Given the description of an element on the screen output the (x, y) to click on. 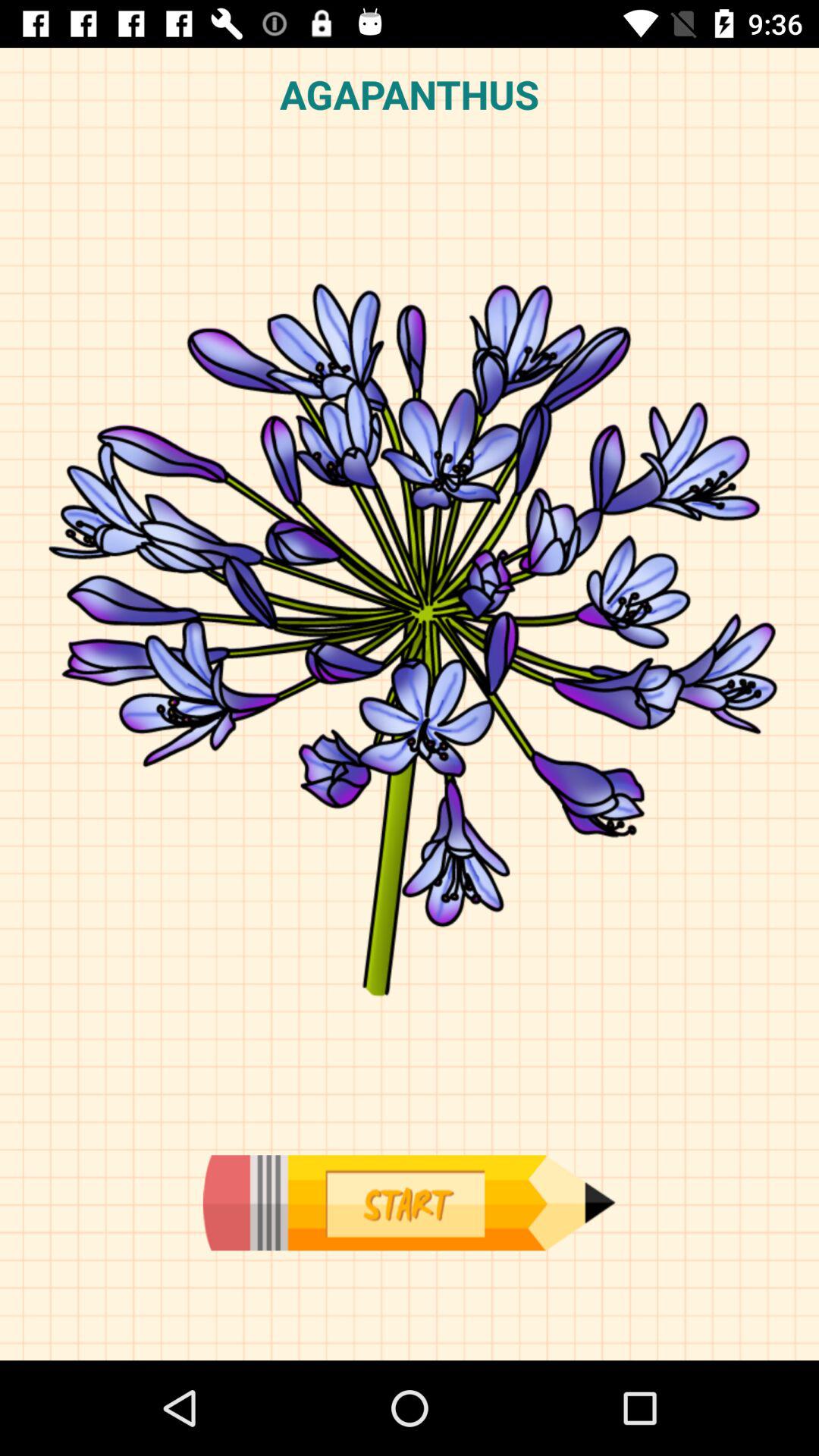
start game (409, 1202)
